Given the description of an element on the screen output the (x, y) to click on. 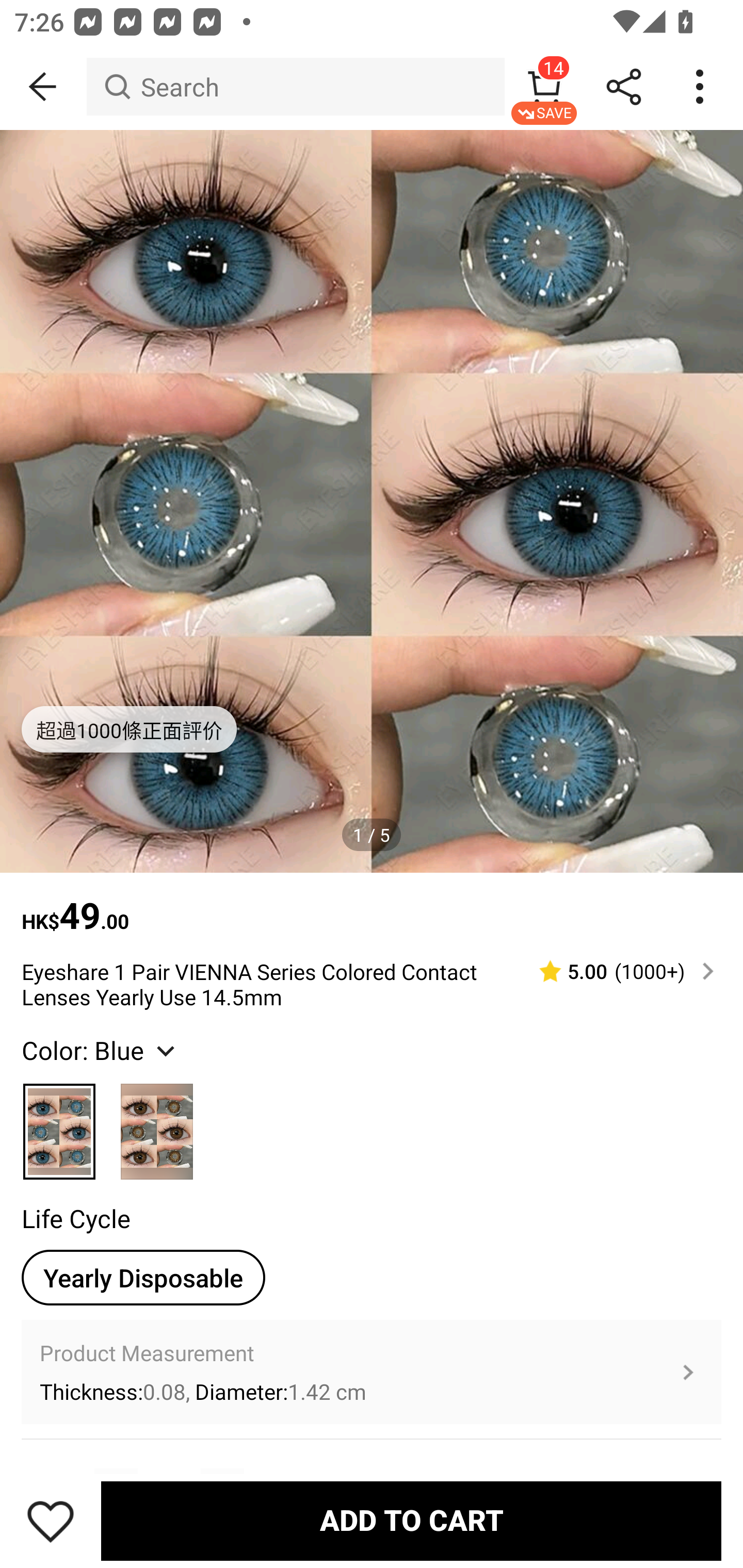
BACK (43, 86)
14 SAVE (543, 87)
Search (295, 87)
PHOTOS 1 / 5 超過1000條正面評价 (371, 501)
1 / 5 (371, 834)
HK$49.00 (371, 906)
5.00 (1000‎+) (617, 971)
Color: Blue (100, 1050)
Blue (59, 1123)
chocolate (156, 1123)
Life Cycle (75, 1218)
Yearly Disposable Yearly Disposableselected option (143, 1277)
ADD TO CART (411, 1520)
Save (50, 1520)
